Given the description of an element on the screen output the (x, y) to click on. 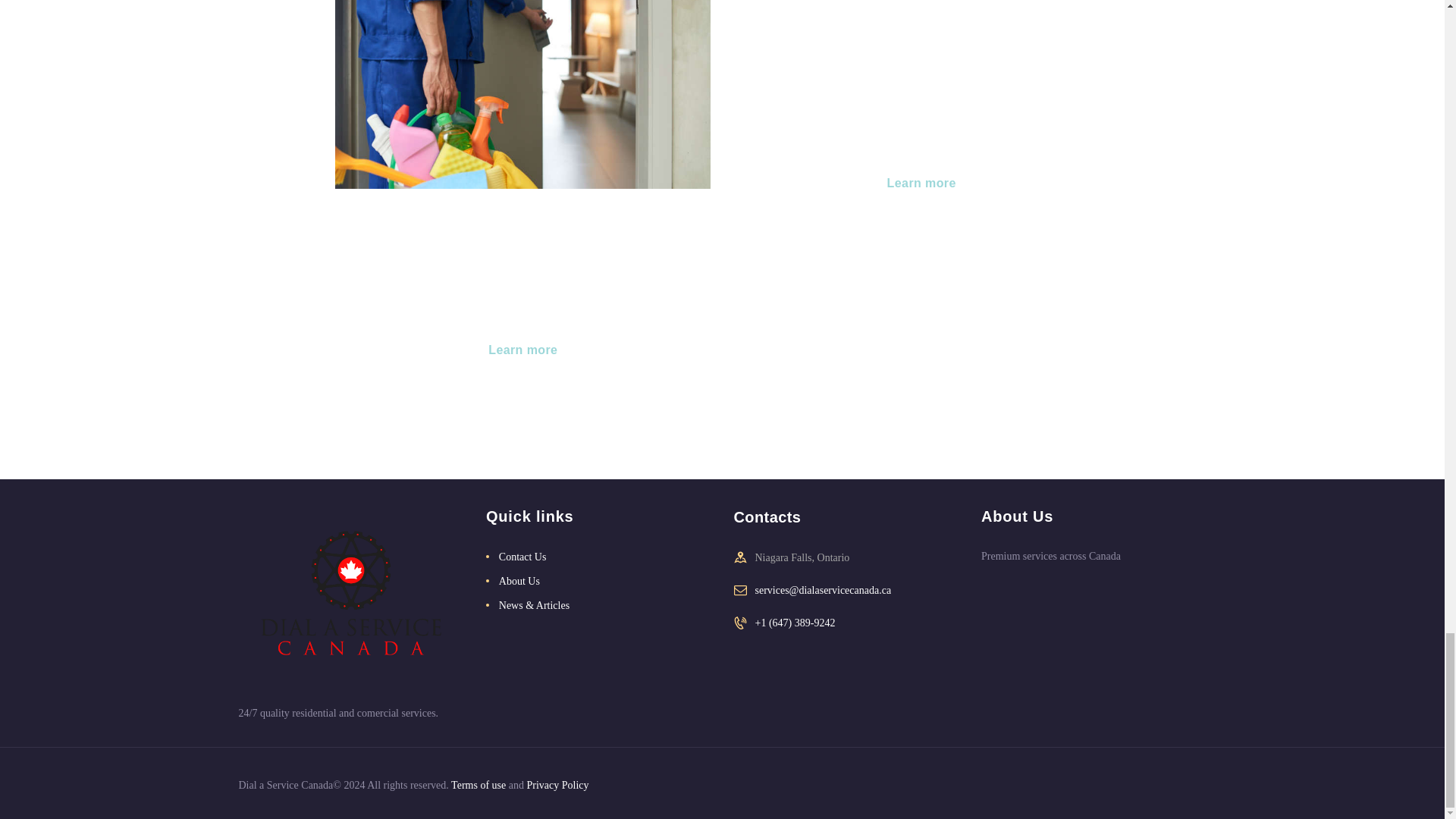
Contact Us (523, 556)
About Us (519, 581)
Grocery Shopping (920, 30)
Learn more (922, 183)
Learn more (523, 350)
